Given the description of an element on the screen output the (x, y) to click on. 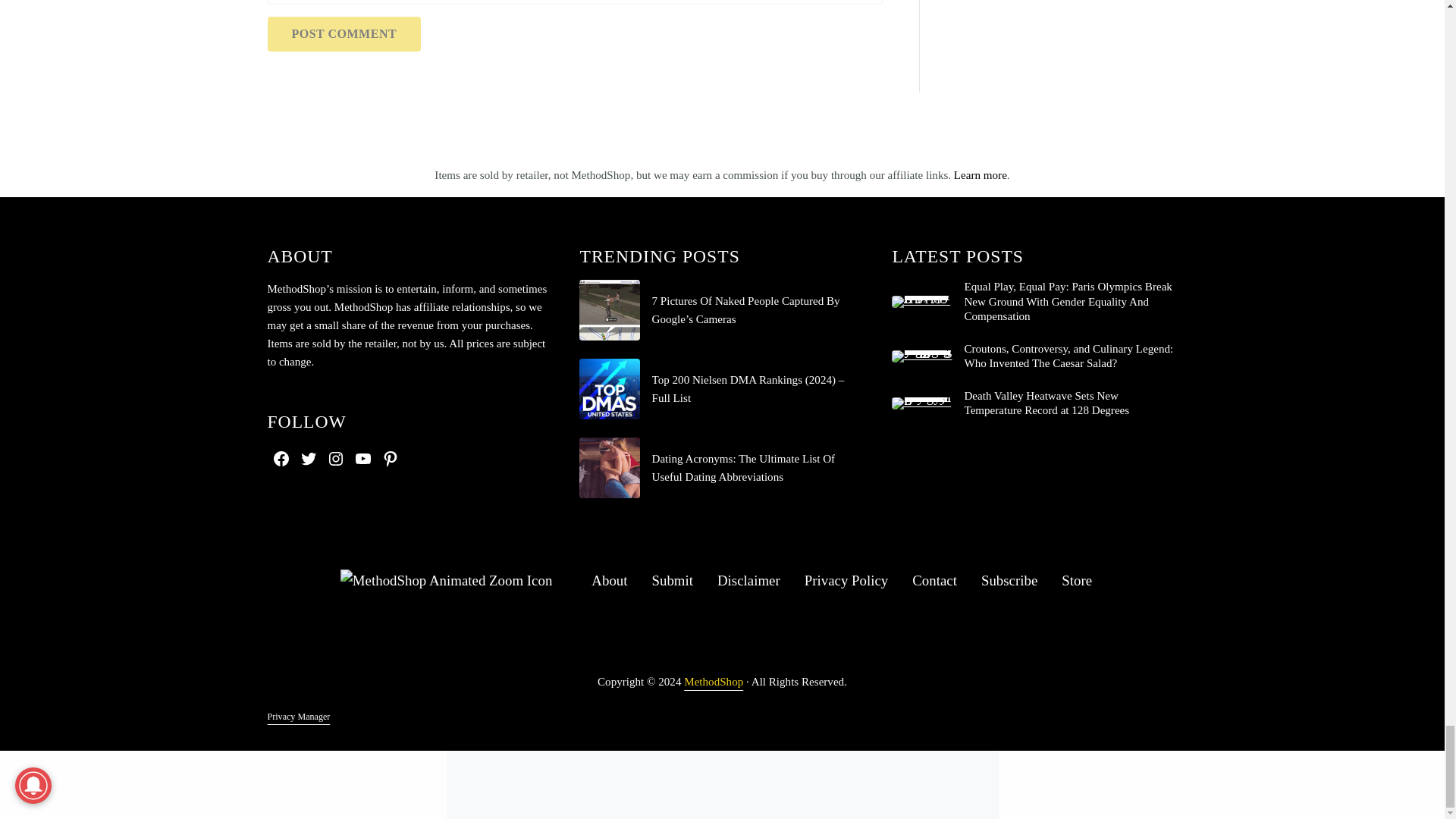
Post Comment (343, 33)
